Given the description of an element on the screen output the (x, y) to click on. 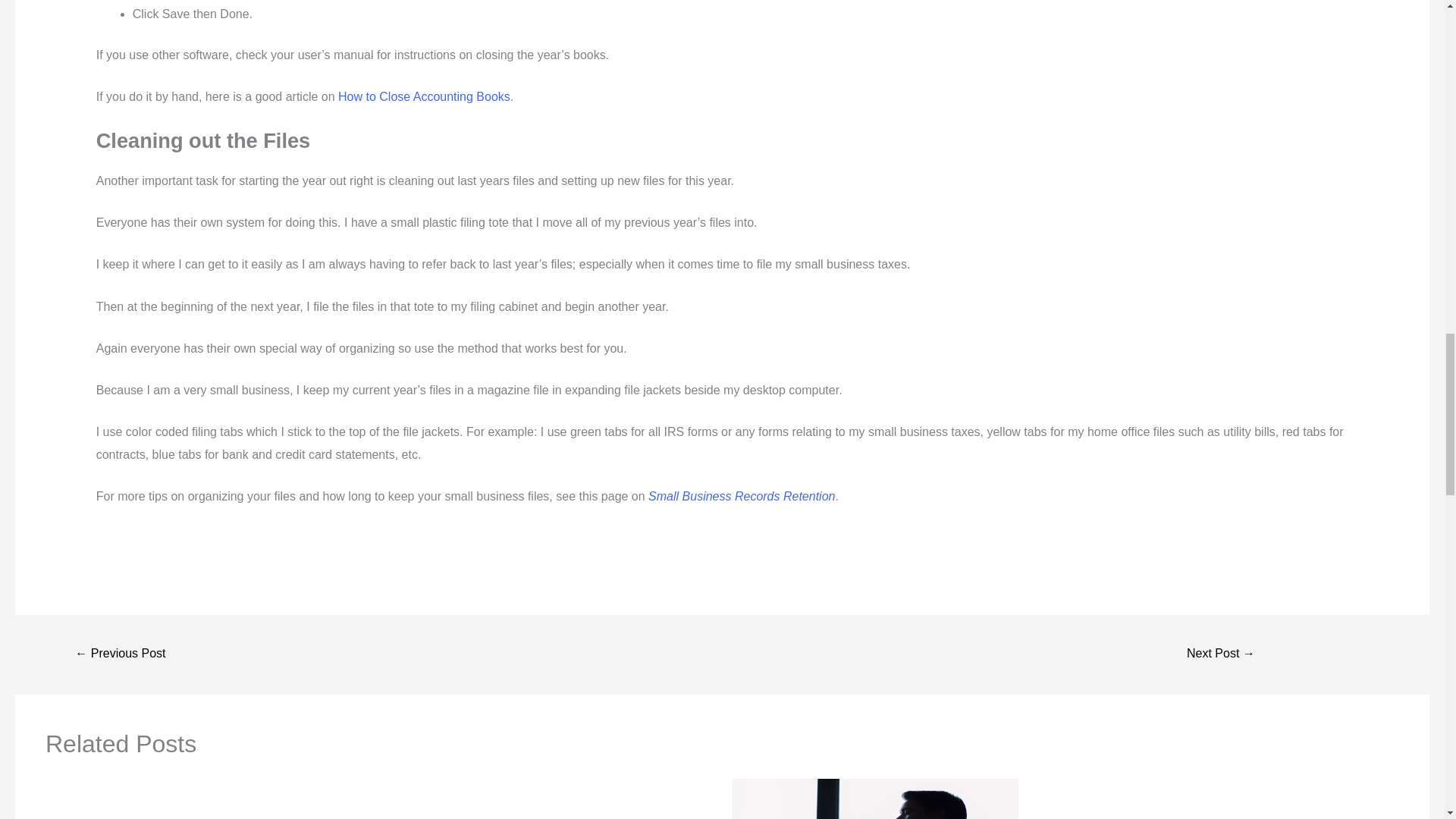
Terms of Use (119, 654)
Small Business Records Retention (740, 495)
Best Small Business Accounting Software (1220, 654)
How to Close Accounting Books (424, 96)
